Given the description of an element on the screen output the (x, y) to click on. 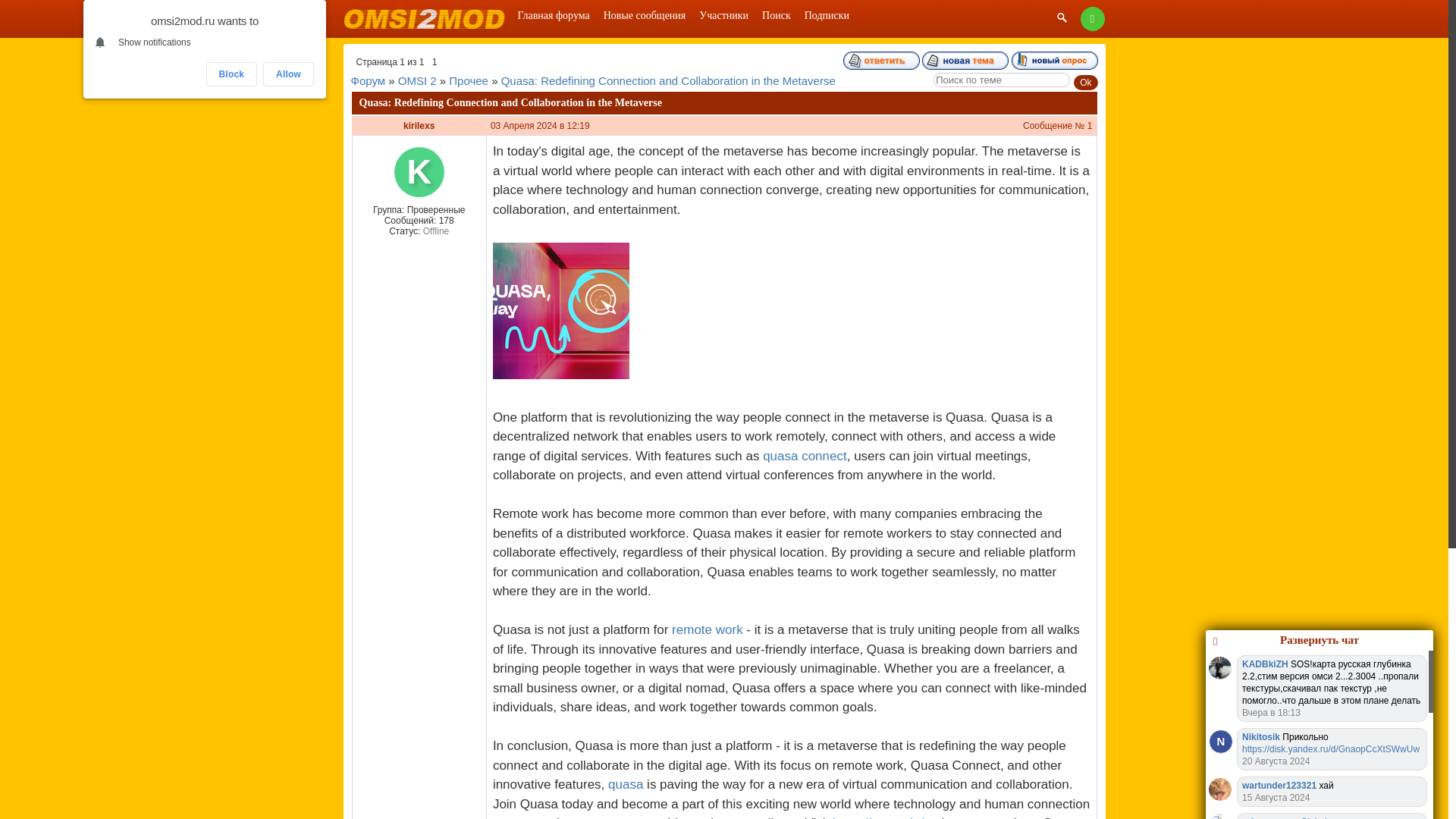
Allow (288, 74)
Ok (1085, 82)
quasa connect (804, 455)
Block (231, 74)
kirilexs (418, 125)
quasa (625, 784)
remote work (706, 629)
OMSI 2 (416, 80)
Ok (1085, 82)
